Given the description of an element on the screen output the (x, y) to click on. 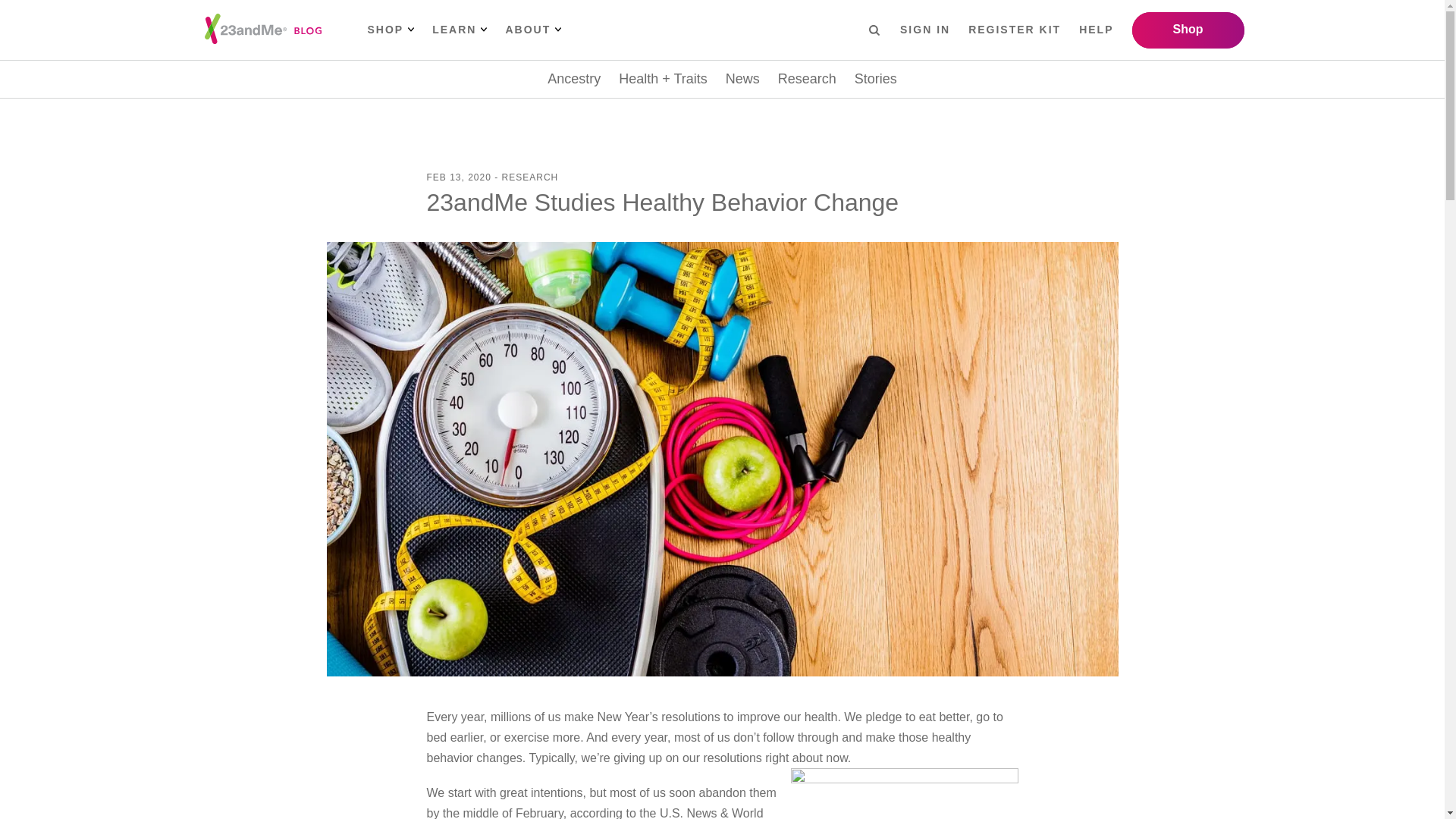
Ancestry (573, 78)
ABOUT (532, 29)
HELP (1095, 29)
SHOP (389, 29)
Search (874, 29)
REGISTER KIT (1014, 29)
Stories (875, 78)
News (742, 78)
Research (806, 78)
Skip To Main Content (24, 11)
Healthy Behavior change (903, 793)
Shop (1187, 30)
SIGN IN (924, 29)
LEARN (459, 29)
